Given the description of an element on the screen output the (x, y) to click on. 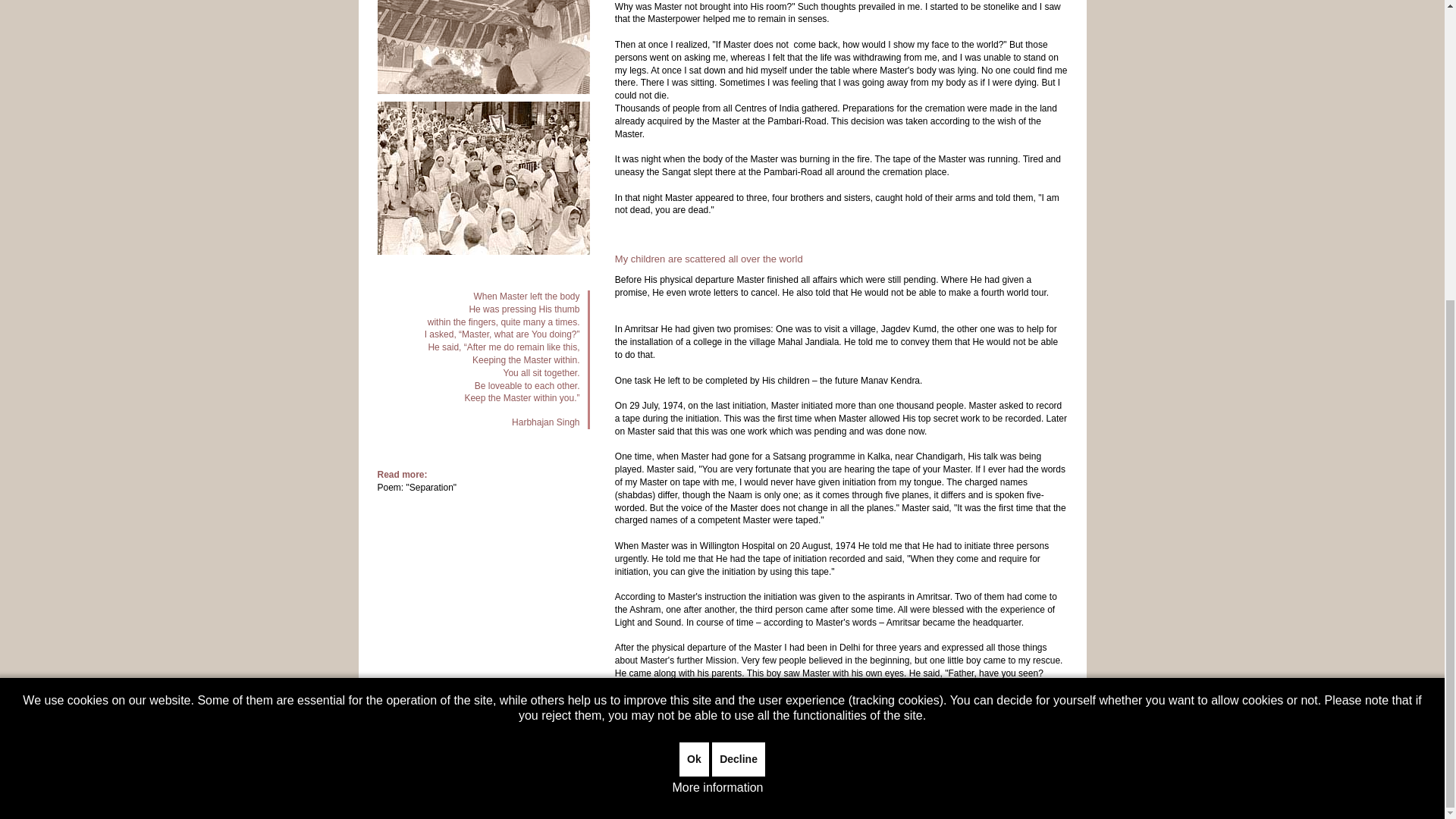
Seperation - Dr Harbhajan Singh (430, 487)
